Given the description of an element on the screen output the (x, y) to click on. 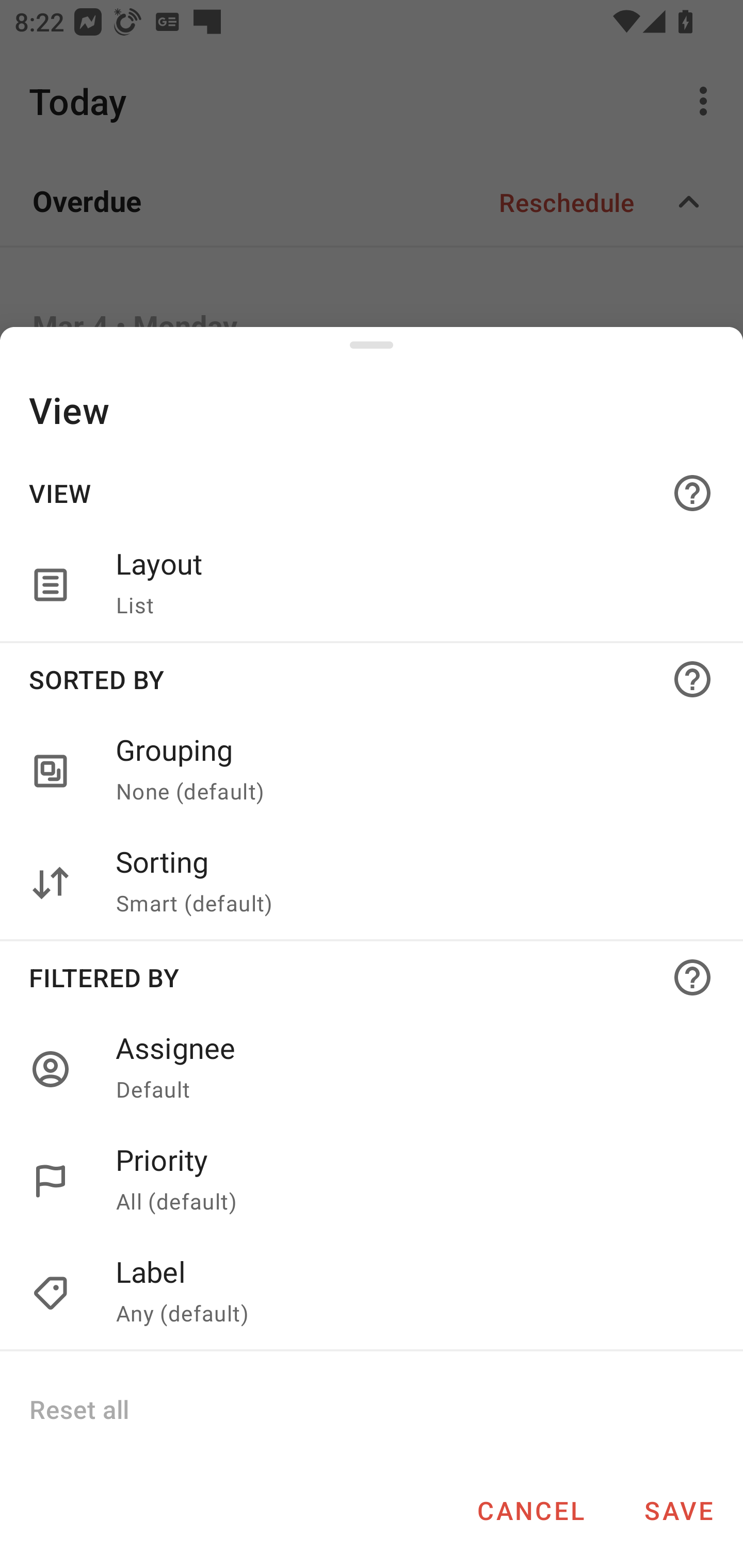
Layout List (371, 585)
Layout List (407, 585)
SORTED BY (371, 678)
Grouping None (default) (371, 771)
Grouping None (default) (407, 771)
Sorting Smart (default) (371, 883)
Sorting Smart (default) (407, 883)
FILTERED BY (371, 976)
Assignee Default (371, 1068)
Assignee Default (407, 1068)
Priority All (default) (371, 1181)
Priority All (default) (407, 1181)
Label Any (default) (371, 1293)
Label Any (default) (407, 1293)
Reset all (78, 1408)
CANCEL (530, 1510)
SAVE (678, 1510)
